Given the description of an element on the screen output the (x, y) to click on. 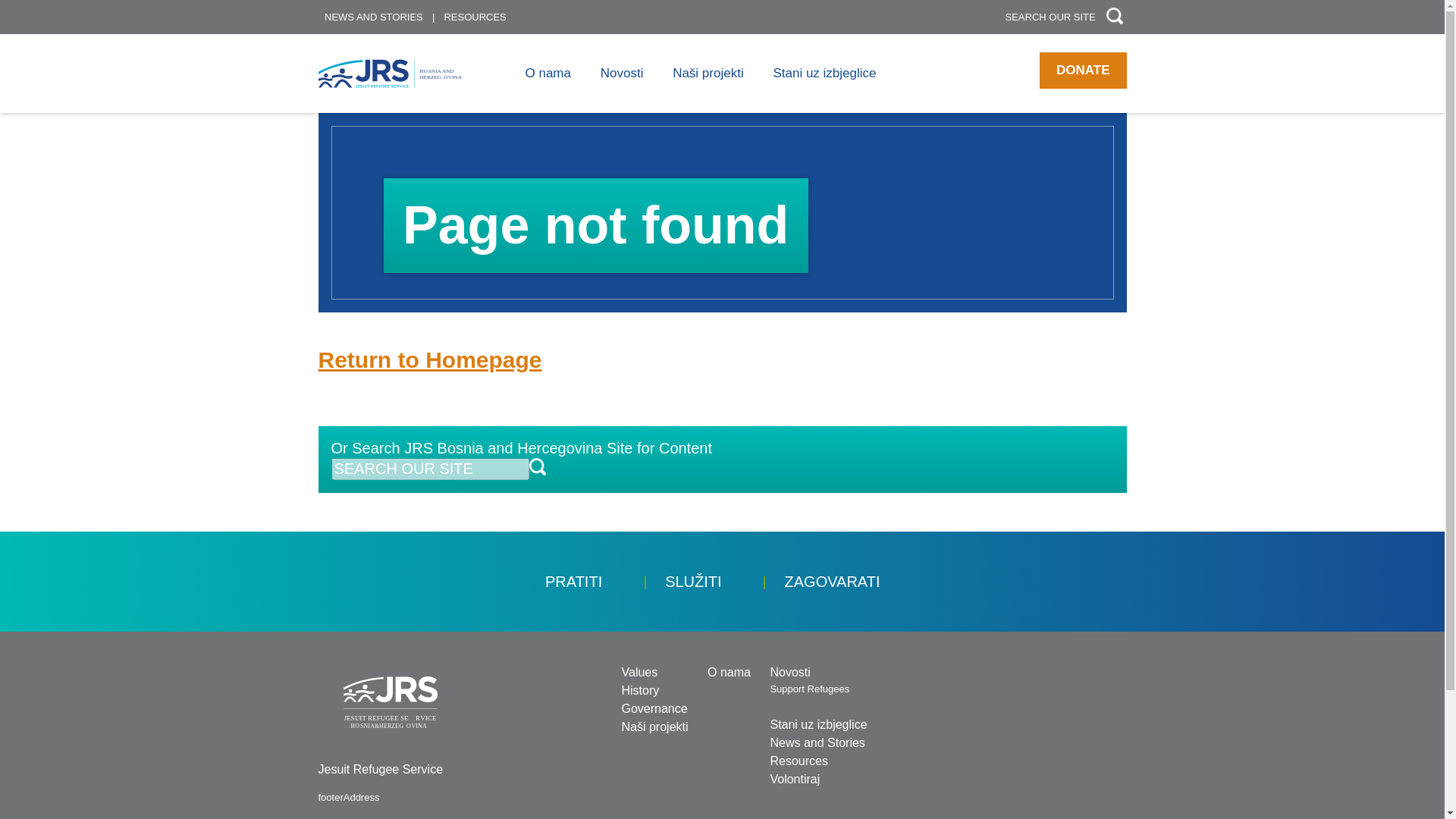
News and Stories (817, 742)
Stani uz izbjeglice (824, 73)
Support Refugees (809, 688)
NEWS AND STORIES (376, 17)
Skip to main content (639, 4)
Novosti (789, 671)
DONATE (1082, 70)
O nama (729, 671)
Novosti (621, 73)
RESOURCES (478, 17)
